Given the description of an element on the screen output the (x, y) to click on. 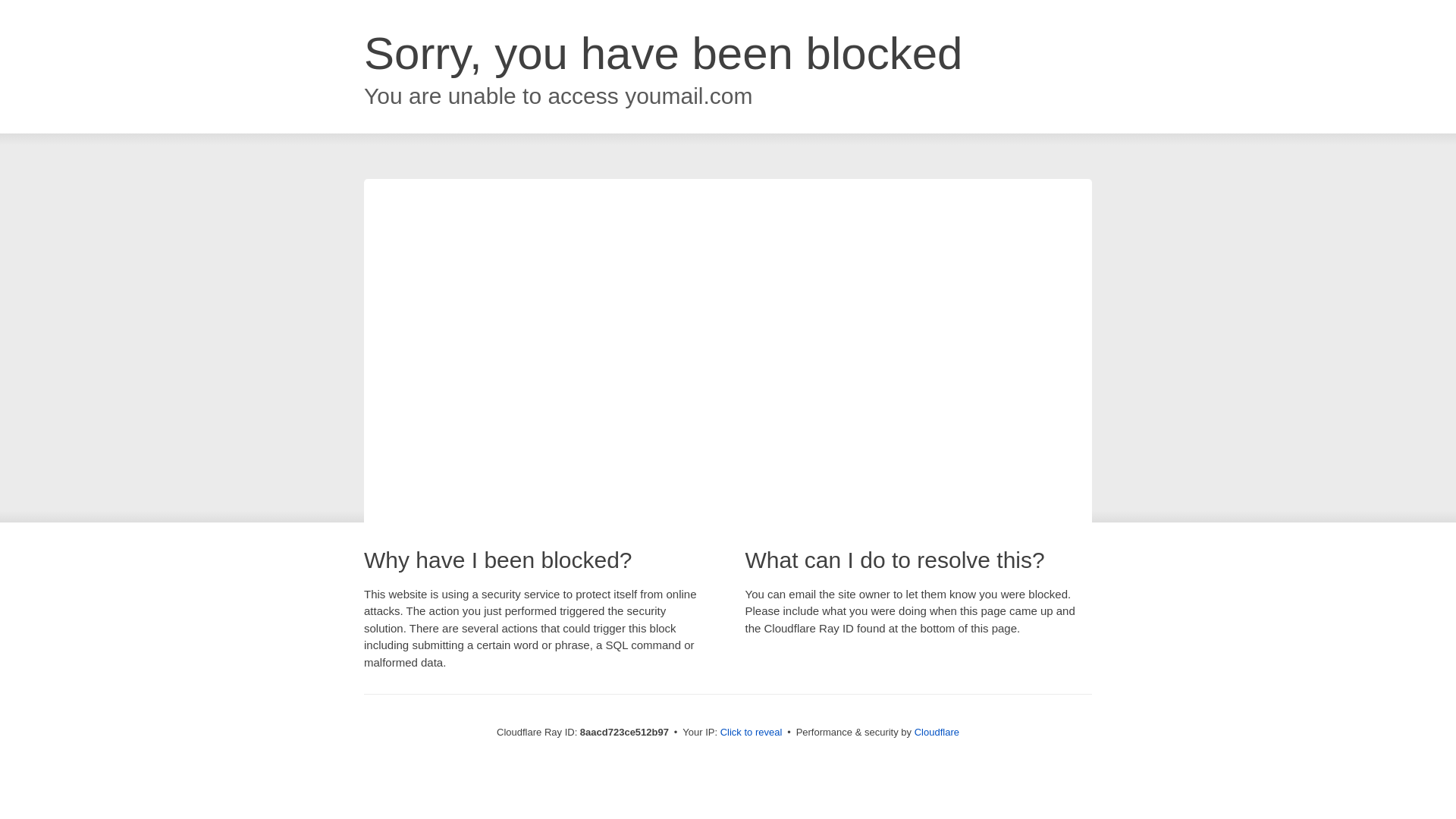
Click to reveal (751, 732)
Cloudflare (936, 731)
